Given the description of an element on the screen output the (x, y) to click on. 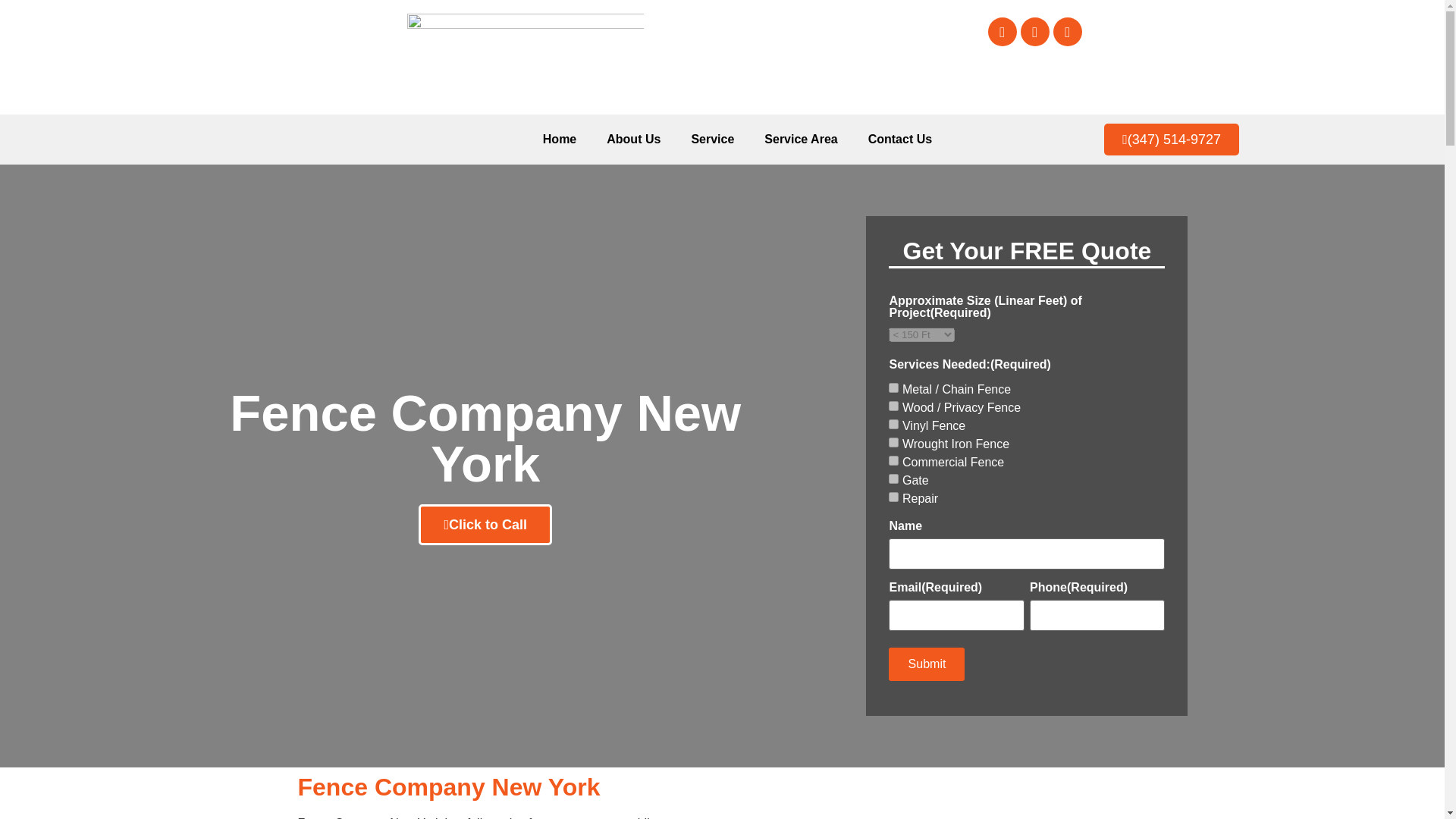
Home (559, 139)
Submit (925, 663)
Vinyl Fence (893, 424)
Repair (893, 497)
Click to Call (485, 524)
Commercial Fence (893, 460)
Service (712, 139)
Service Area (800, 139)
Wrought Iron Fence (893, 442)
About Us (633, 139)
